Given the description of an element on the screen output the (x, y) to click on. 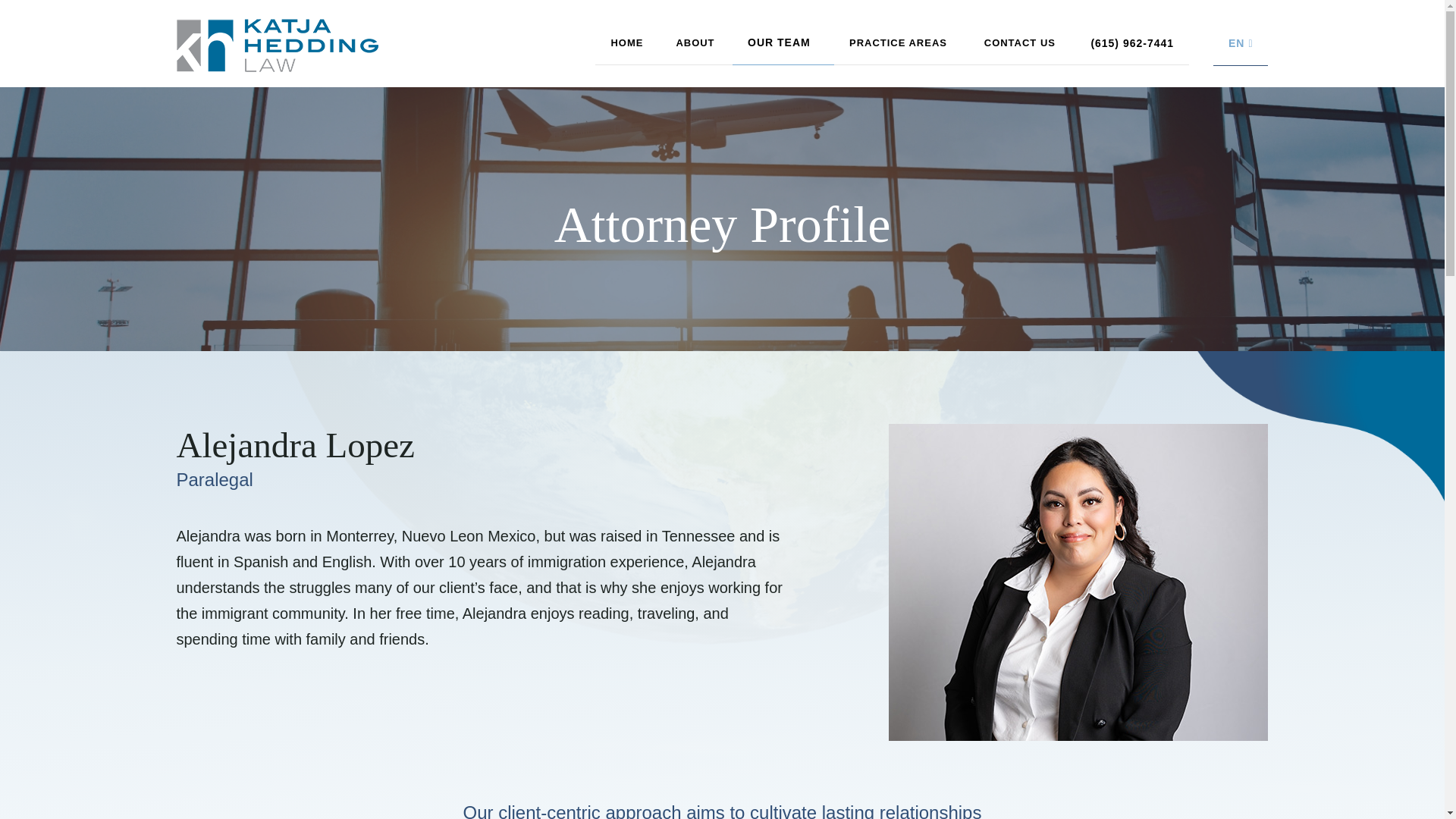
Practice Areas (901, 45)
Home (628, 45)
HOME (628, 45)
PRACTICE AREAS (901, 45)
ABOUT (696, 45)
EN (1240, 42)
Contact Us (1022, 45)
About (696, 45)
CONTACT US (1022, 45)
Attorneys (783, 45)
OUR TEAM (783, 45)
